Given the description of an element on the screen output the (x, y) to click on. 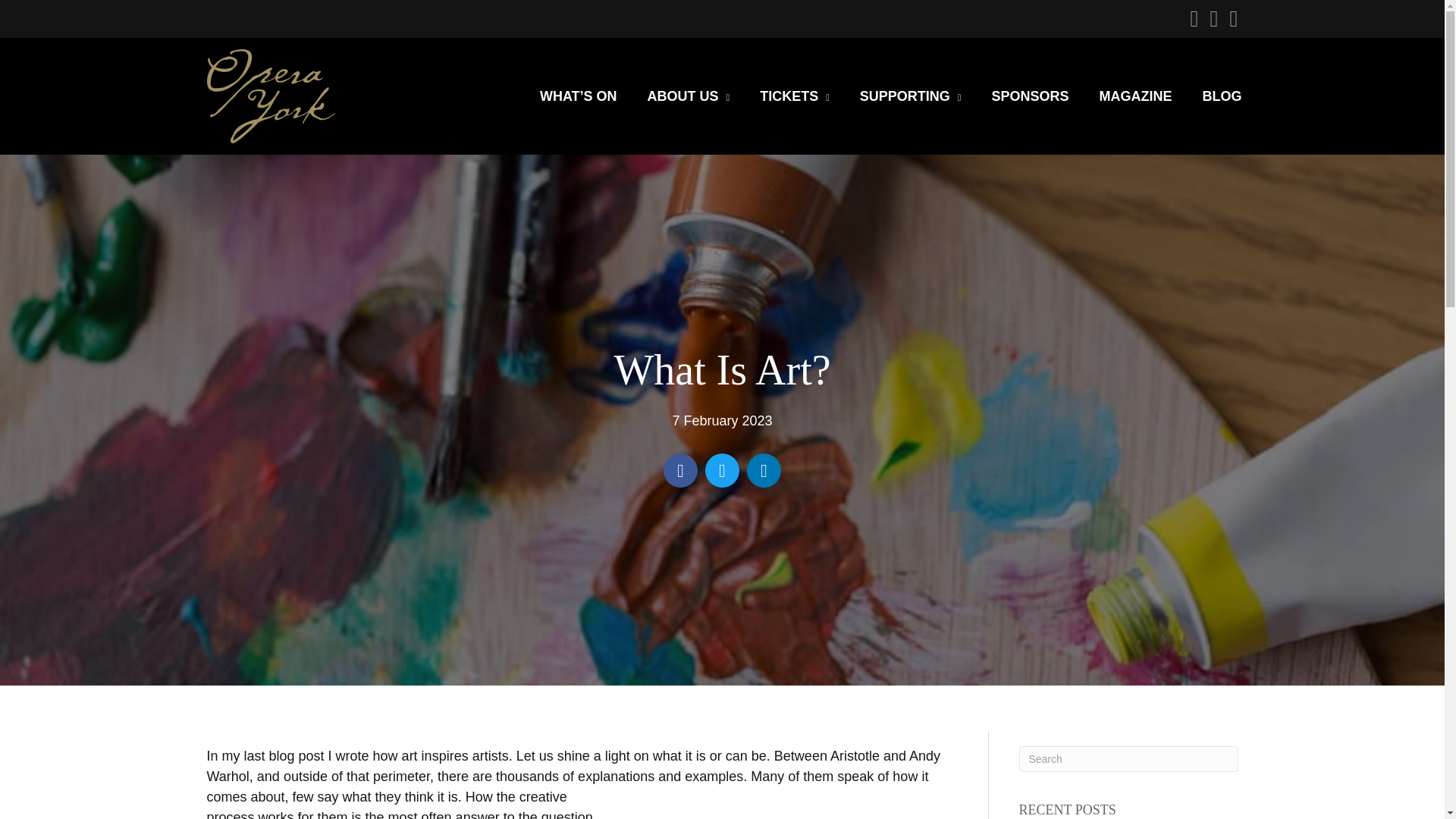
SPONSORS (1029, 95)
MAGAZINE (1135, 95)
SUPPORTING (910, 95)
BLOG (1222, 95)
opera-york-logo (270, 96)
Type and press Enter to search. (1129, 759)
ABOUT US (689, 95)
TICKETS (794, 95)
